Given the description of an element on the screen output the (x, y) to click on. 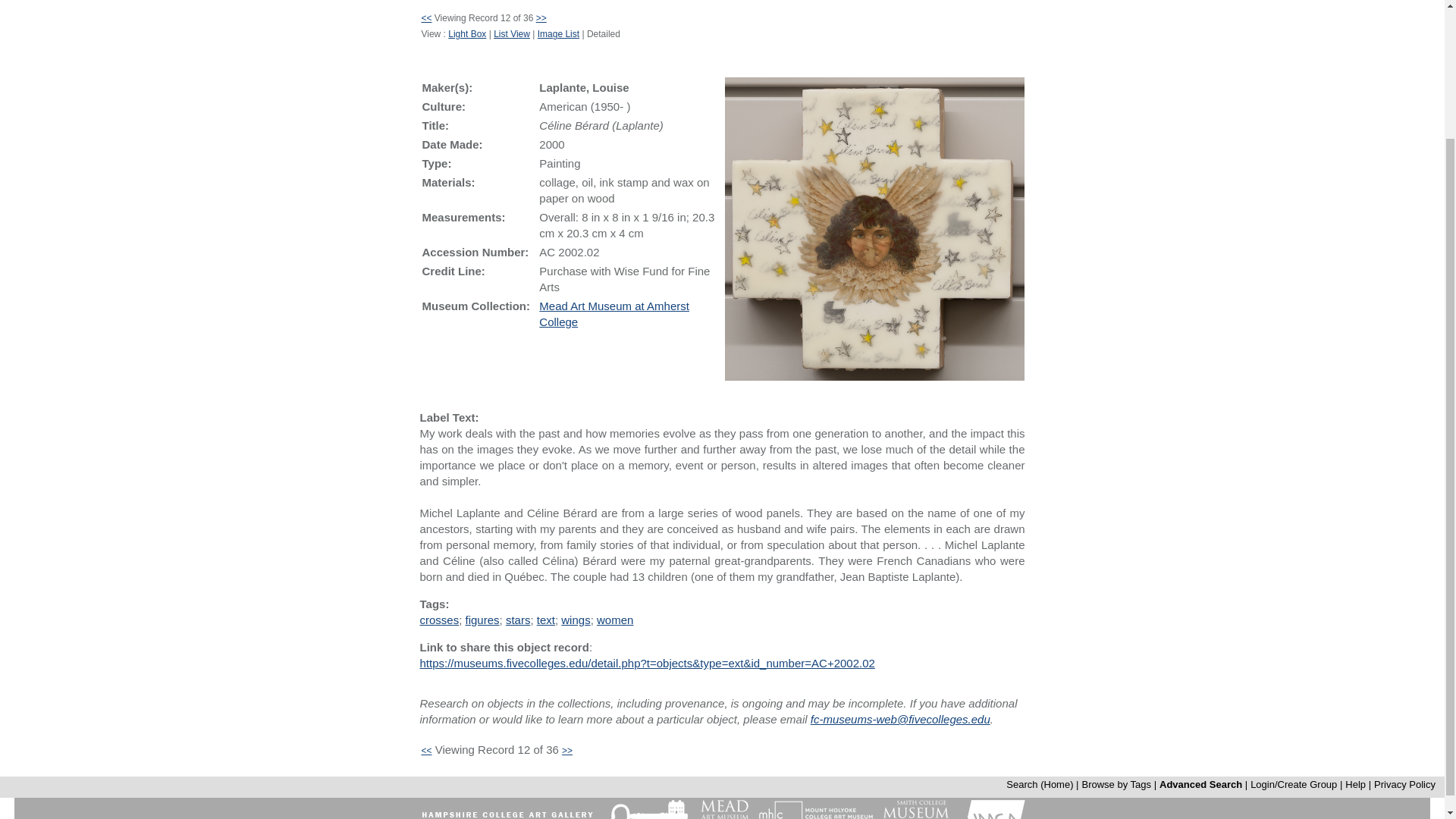
Help (1355, 784)
crosses (438, 619)
Browse by Tags (1116, 784)
Mead Art Museum at Amherst College (613, 313)
figures (482, 619)
Light Box (467, 33)
Image List (558, 33)
wings (574, 619)
List View (511, 33)
Privacy Policy (1404, 784)
women (614, 619)
Advanced Search (1199, 784)
text (545, 619)
stars (518, 619)
